Given the description of an element on the screen output the (x, y) to click on. 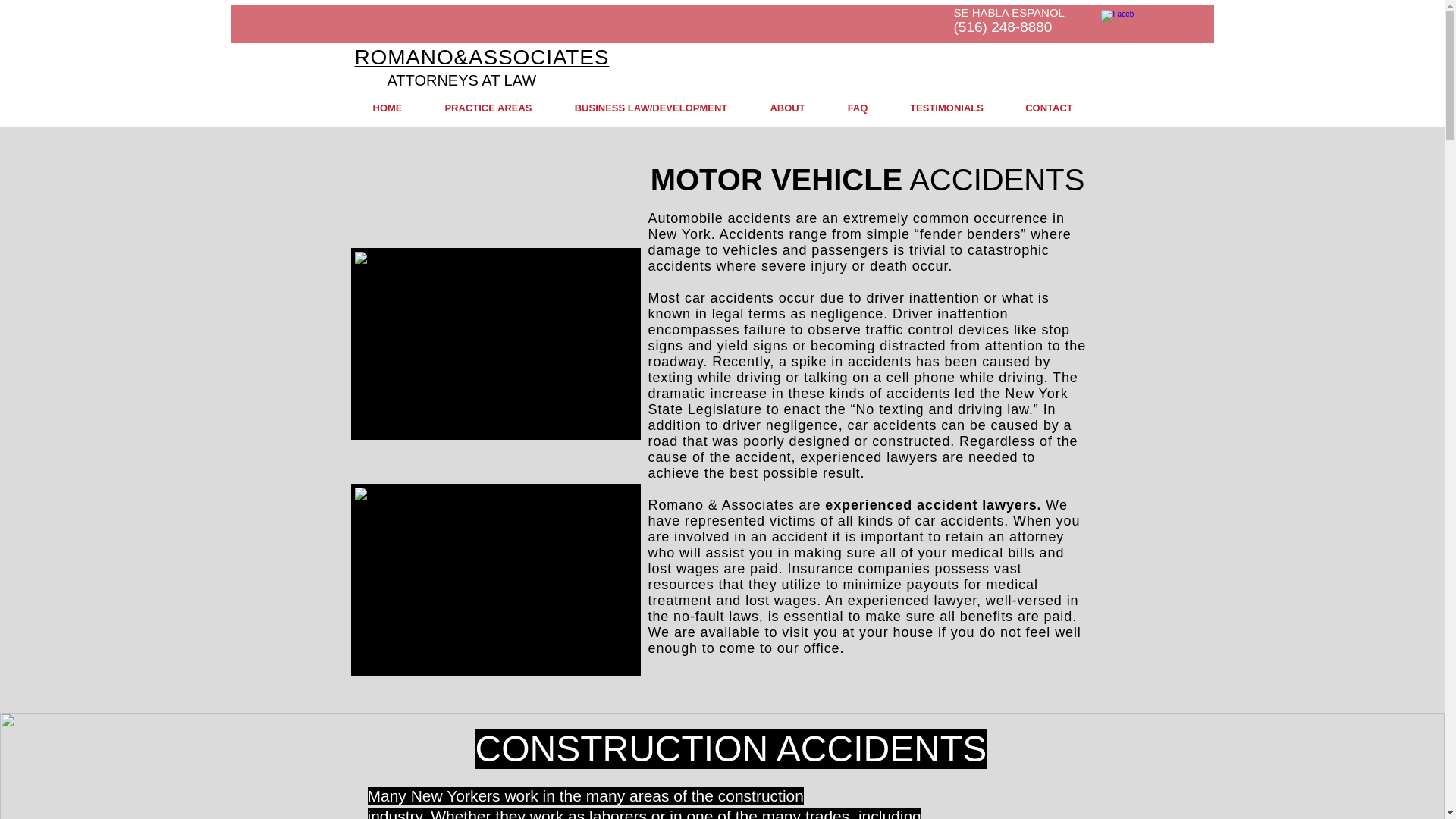
TESTIMONIALS (946, 107)
HOME (387, 107)
CONTACT (1048, 107)
ABOUT (788, 107)
FAQ (858, 107)
